Given the description of an element on the screen output the (x, y) to click on. 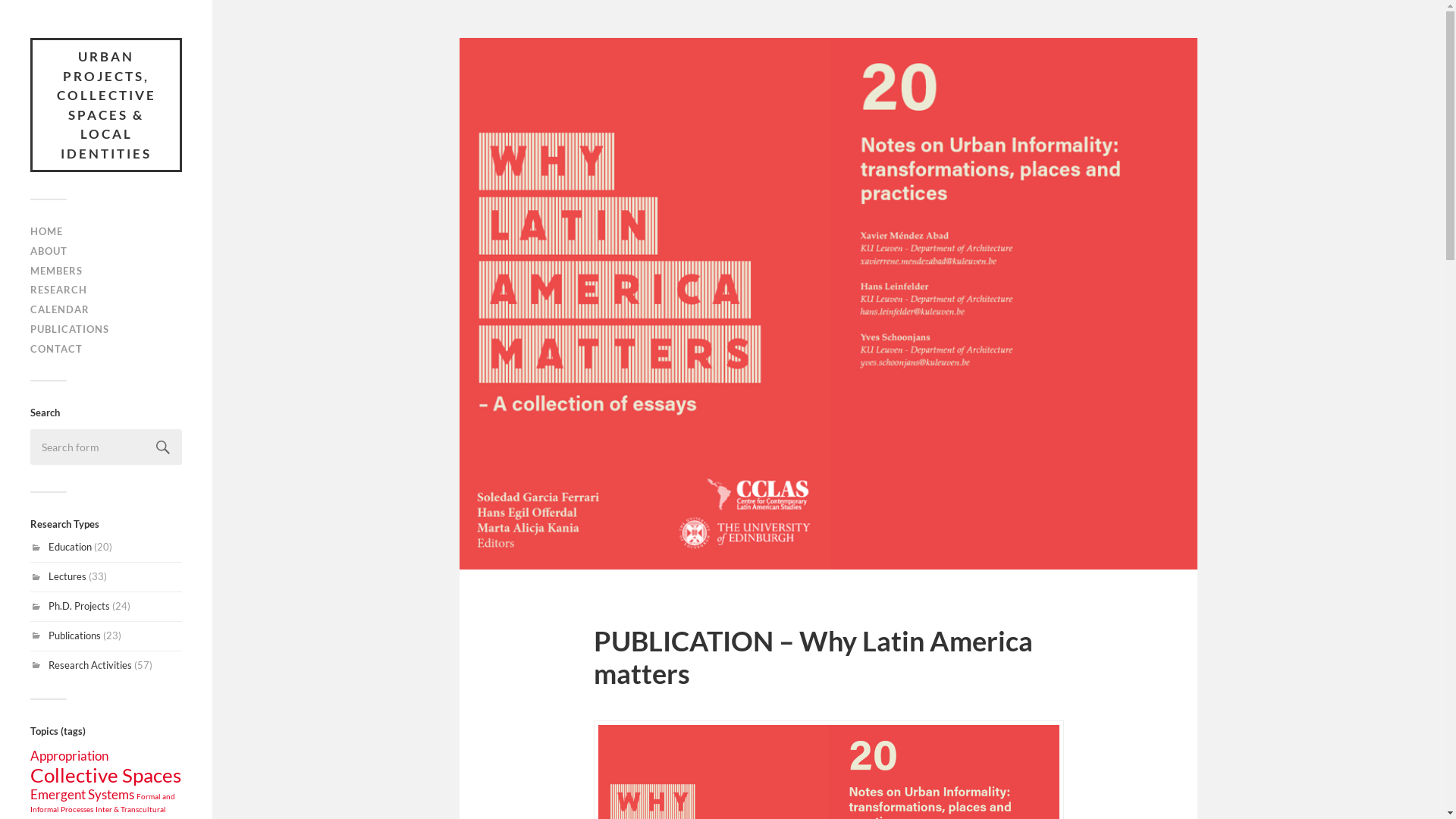
RESEARCH Element type: text (58, 289)
Research Activities Element type: text (89, 664)
HOME Element type: text (46, 231)
Publications Element type: text (74, 635)
Education Element type: text (69, 546)
Appropriation Element type: text (69, 755)
PUBLICATIONS Element type: text (69, 329)
CALENDAR Element type: text (59, 309)
URBAN PROJECTS, COLLECTIVE SPACES & LOCAL IDENTITIES Element type: text (106, 104)
CONTACT Element type: text (56, 348)
Emergent Systems Element type: text (82, 794)
MEMBERS Element type: text (56, 270)
Formal and Informal Processes Element type: text (102, 802)
ABOUT Element type: text (48, 250)
Ph.D. Projects Element type: text (78, 605)
Collective Spaces Element type: text (105, 774)
Lectures Element type: text (67, 576)
